Given the description of an element on the screen output the (x, y) to click on. 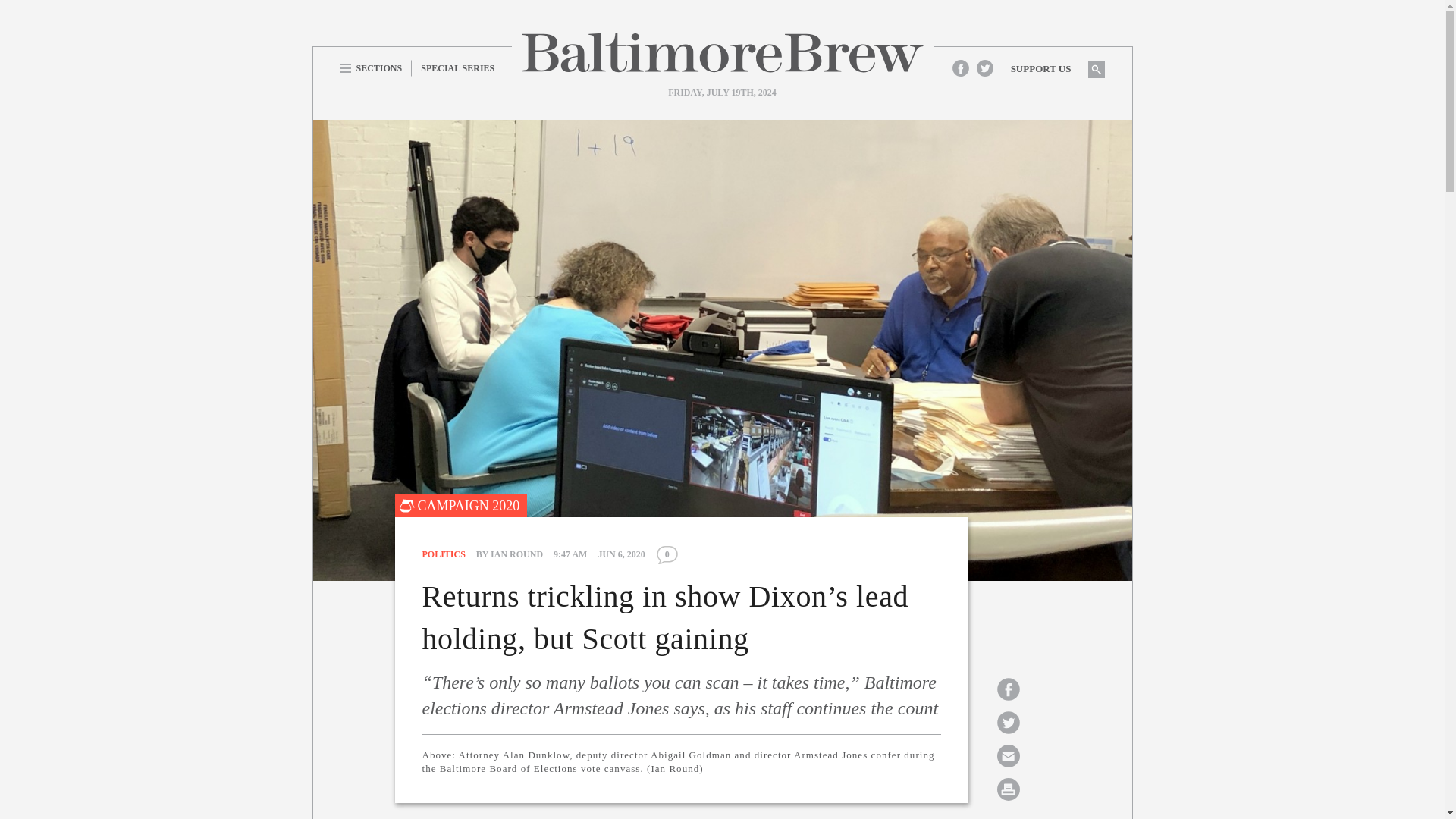
SECTIONS (374, 67)
Twitter (984, 67)
POLITICS (443, 553)
0 (667, 554)
SUPPORT US (1040, 68)
Print this article (1008, 789)
CAMPAIGN 2020 (460, 504)
Facebook (960, 67)
Share on Facebook (1008, 688)
IAN ROUND (516, 553)
Email this article (1008, 755)
Share on Twitter (1008, 722)
SPECIAL SERIES (457, 67)
